Given the description of an element on the screen output the (x, y) to click on. 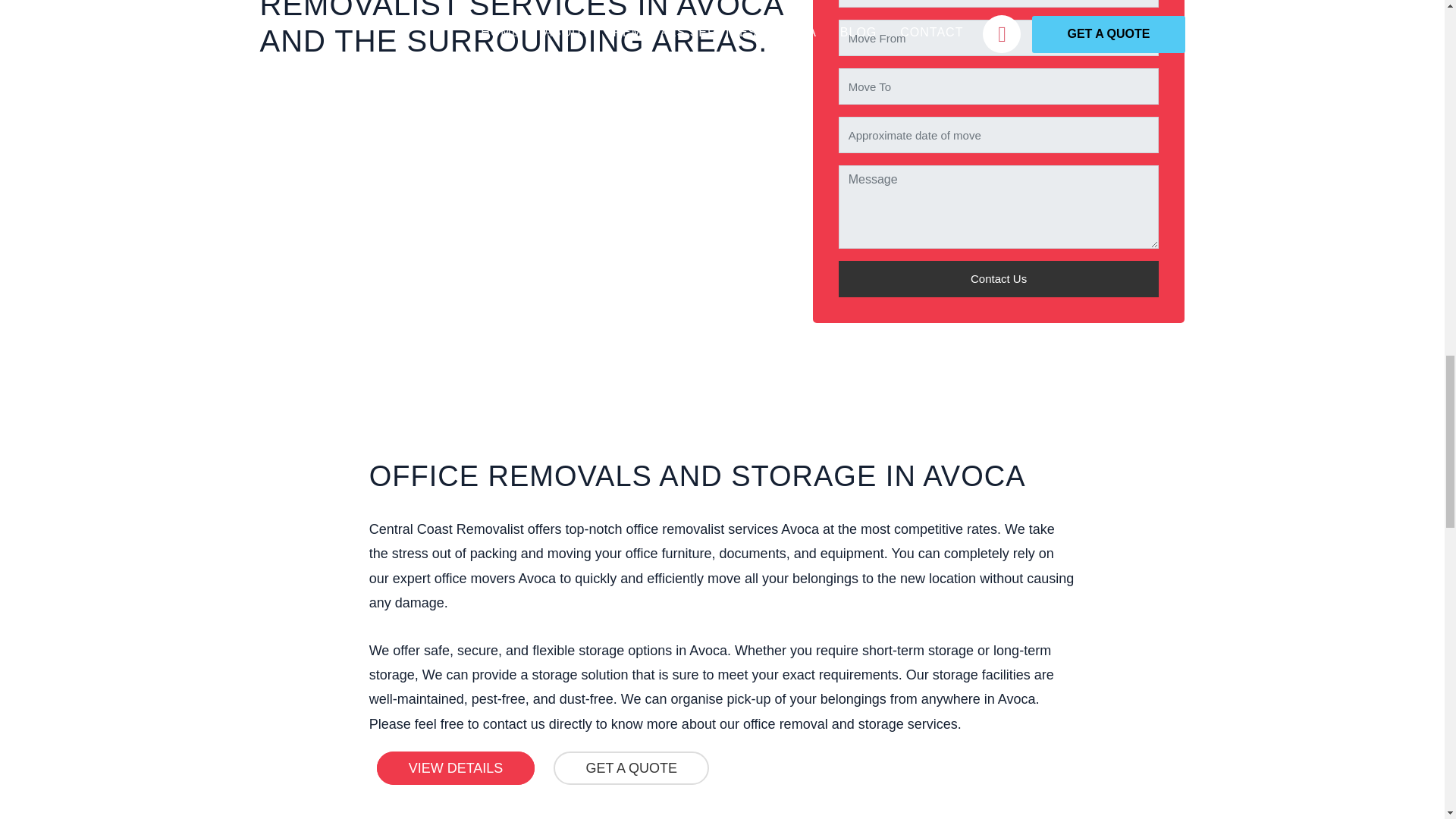
Contact Us (998, 279)
Contact Us (998, 279)
GET A QUOTE (631, 767)
VIEW DETAILS (456, 767)
